Given the description of an element on the screen output the (x, y) to click on. 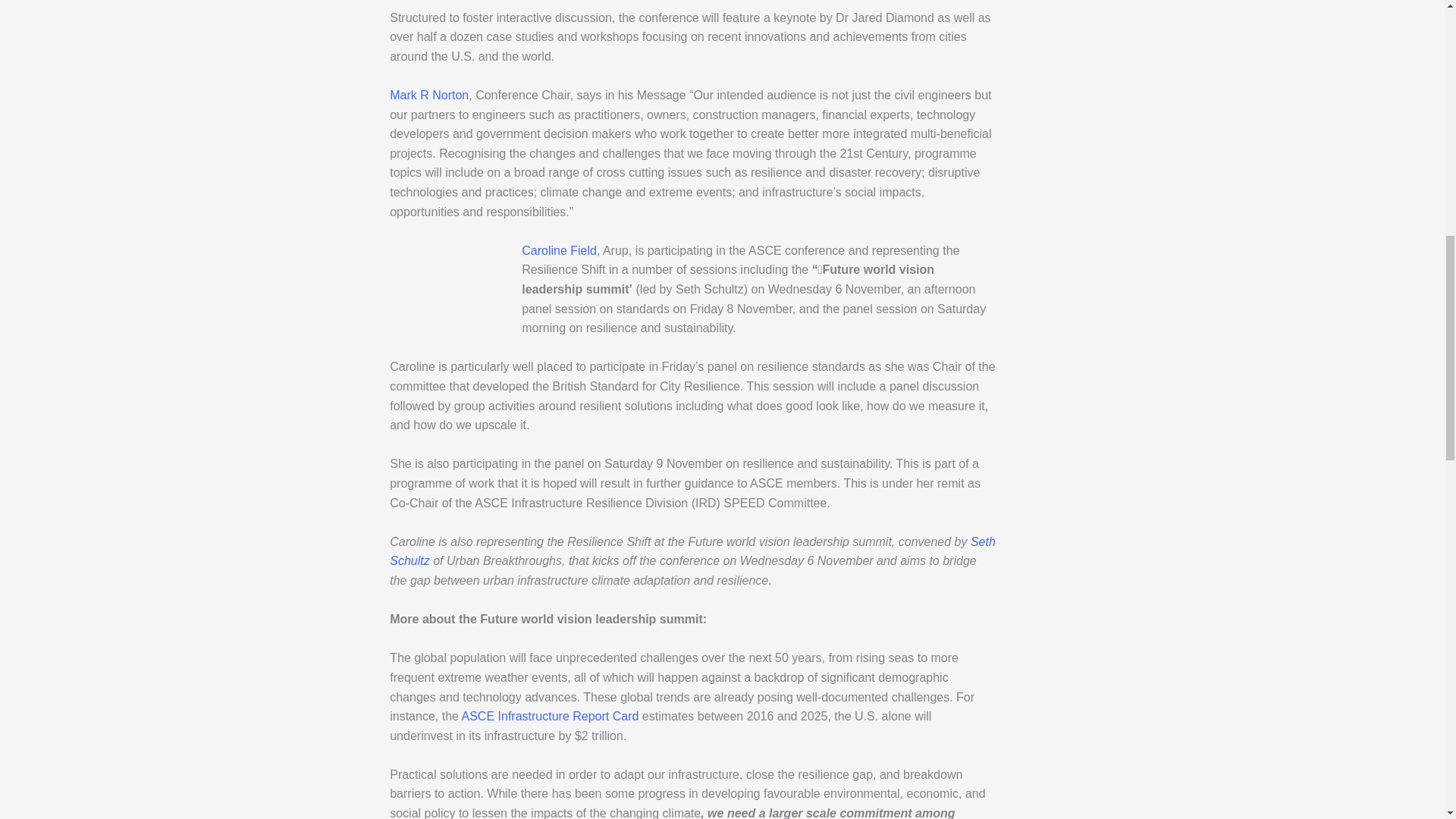
Seth Schultz (692, 551)
ASCE Infrastructure Report Card (550, 716)
Caroline Field (558, 250)
Mark R Norton (429, 94)
